Given the description of an element on the screen output the (x, y) to click on. 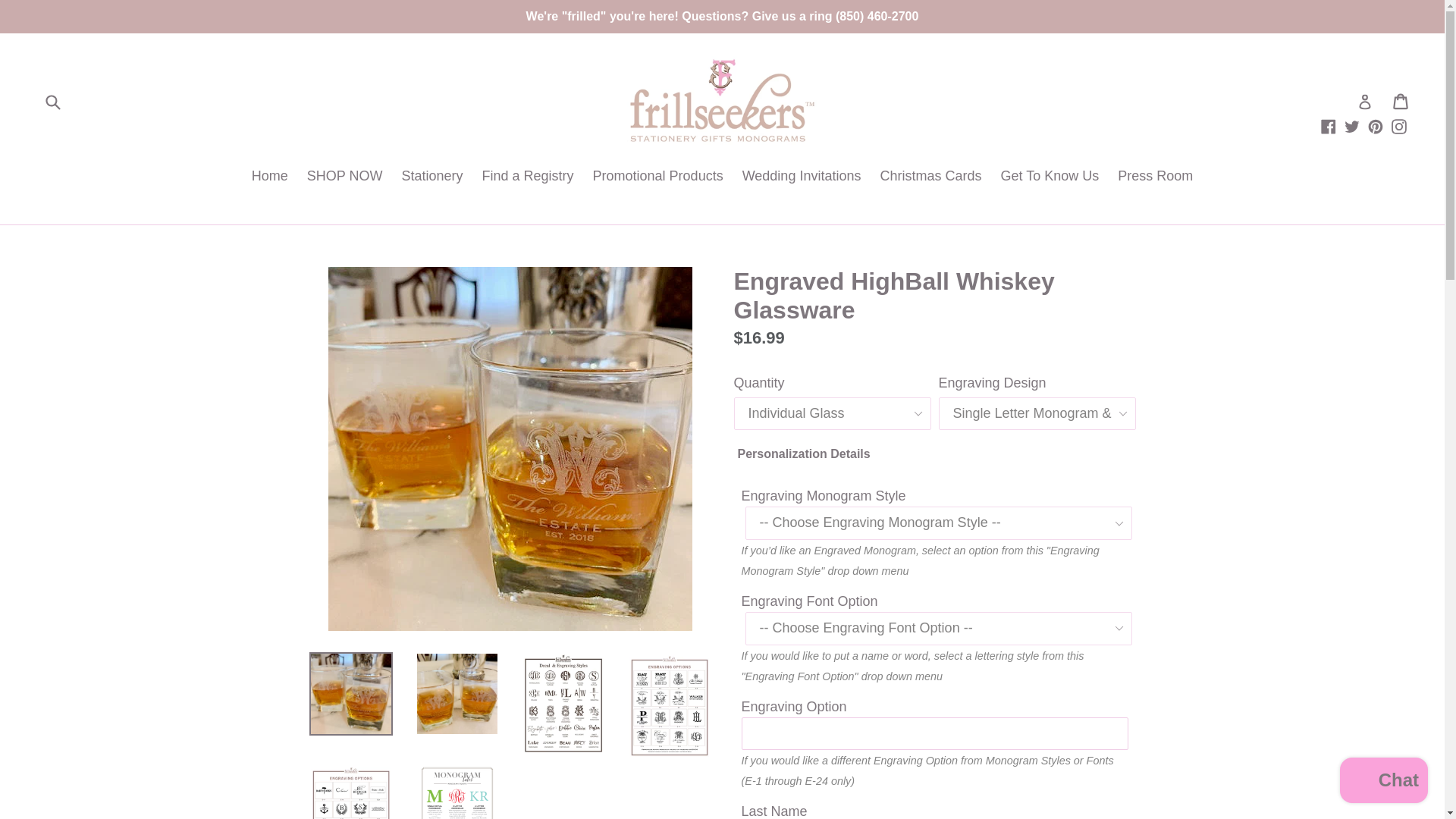
Home (269, 177)
Frill Seekers Gifts on Instagram (1399, 125)
Shopify online store chat (1383, 781)
Get To Know Us (1049, 177)
Find a Registry (527, 177)
Promotional Products (657, 177)
Stationery (431, 177)
Press Room (1154, 177)
Pinterest (1375, 125)
Wedding Invitations (802, 177)
